Given the description of an element on the screen output the (x, y) to click on. 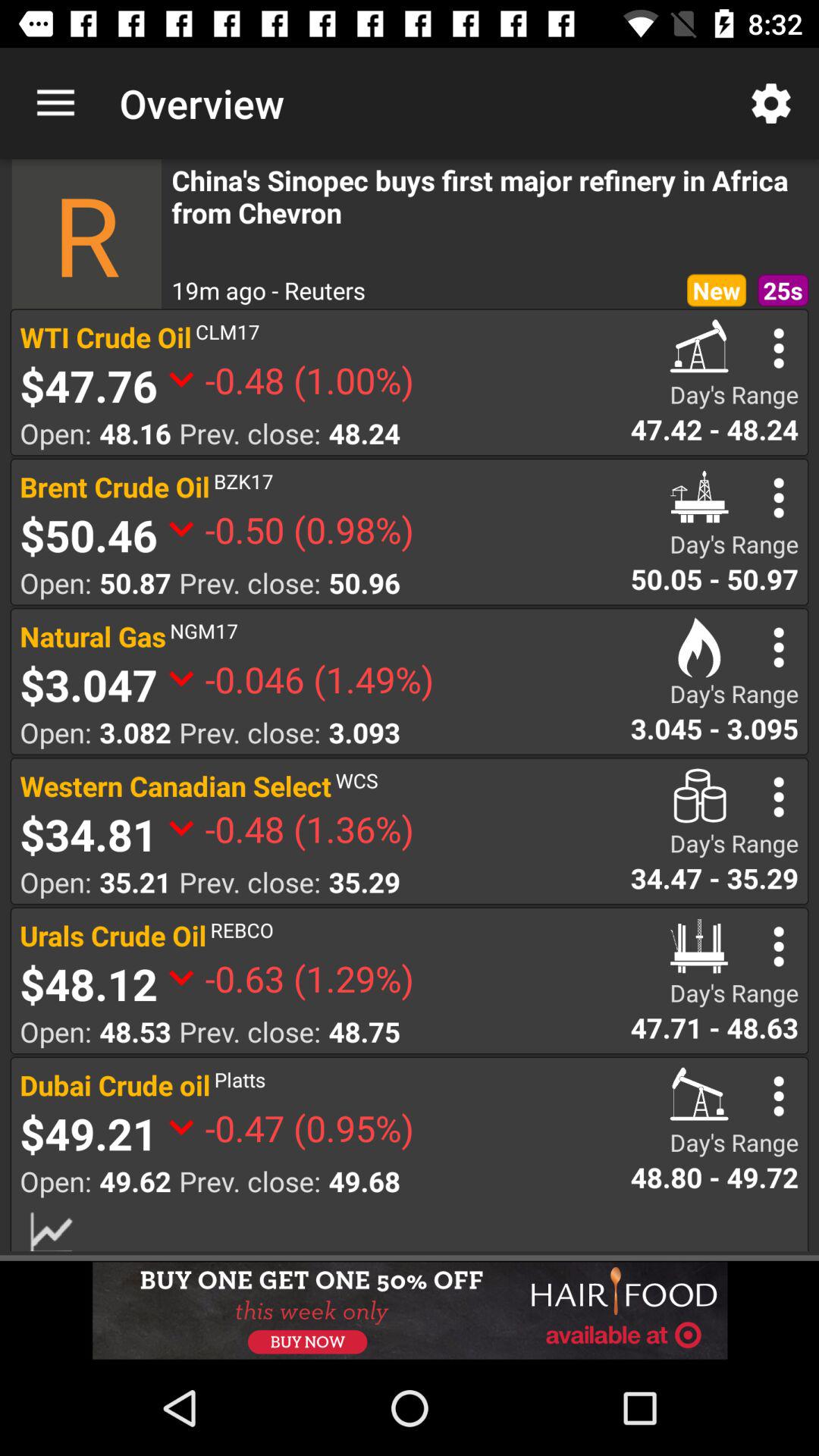
clcik three dots (778, 647)
